Given the description of an element on the screen output the (x, y) to click on. 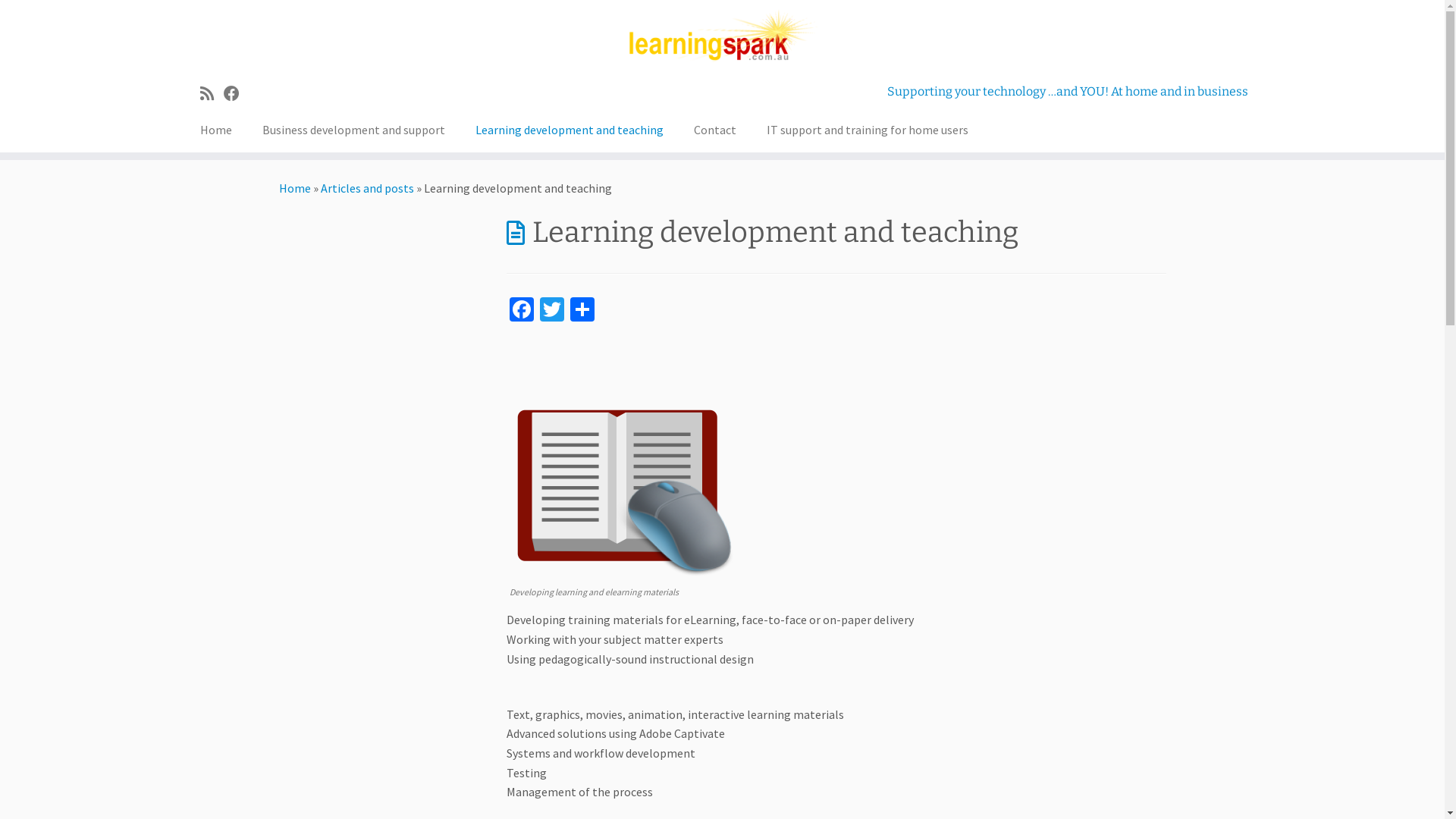
Follow me on Facebook Element type: hover (236, 93)
Developing learning and elearning materials Element type: hover (623, 488)
Contact Element type: text (714, 130)
Home Element type: text (221, 130)
Share Element type: text (582, 311)
Business development and support Element type: text (353, 130)
Learning development and teaching Element type: text (569, 130)
IT support and training for home users Element type: text (867, 130)
Twitter Element type: text (551, 311)
Subscribe to my rss feed Element type: hover (211, 93)
Home Element type: text (294, 187)
Articles and posts Element type: text (366, 187)
Facebook Element type: text (521, 311)
